Given the description of an element on the screen output the (x, y) to click on. 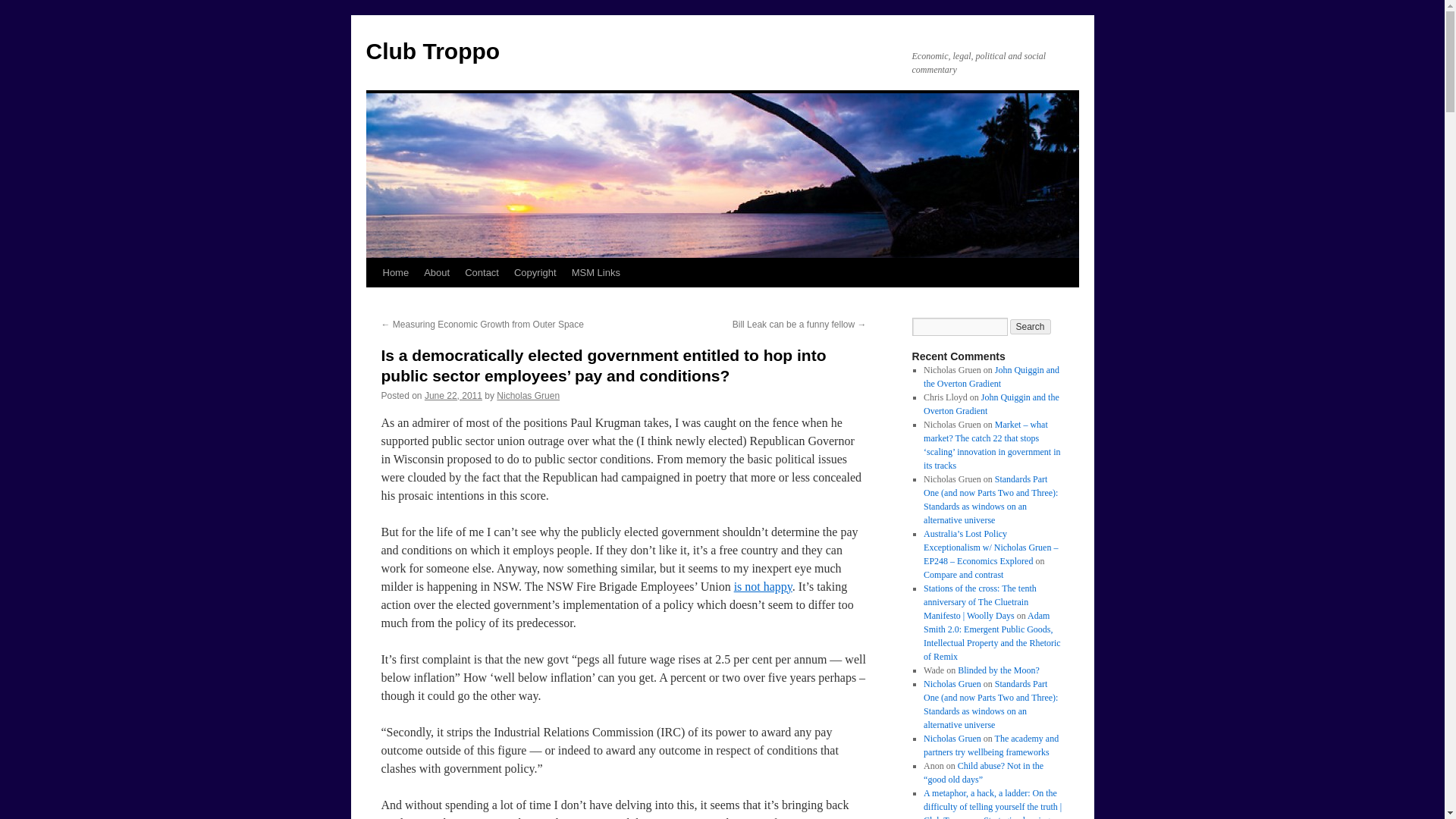
About (436, 272)
Nicholas Gruen (527, 395)
Club Troppo (432, 50)
Search (1030, 326)
MSM Links (595, 272)
4:20 pm (453, 395)
Copyright (535, 272)
Home (395, 272)
is not happy (762, 585)
Contact (481, 272)
